Given the description of an element on the screen output the (x, y) to click on. 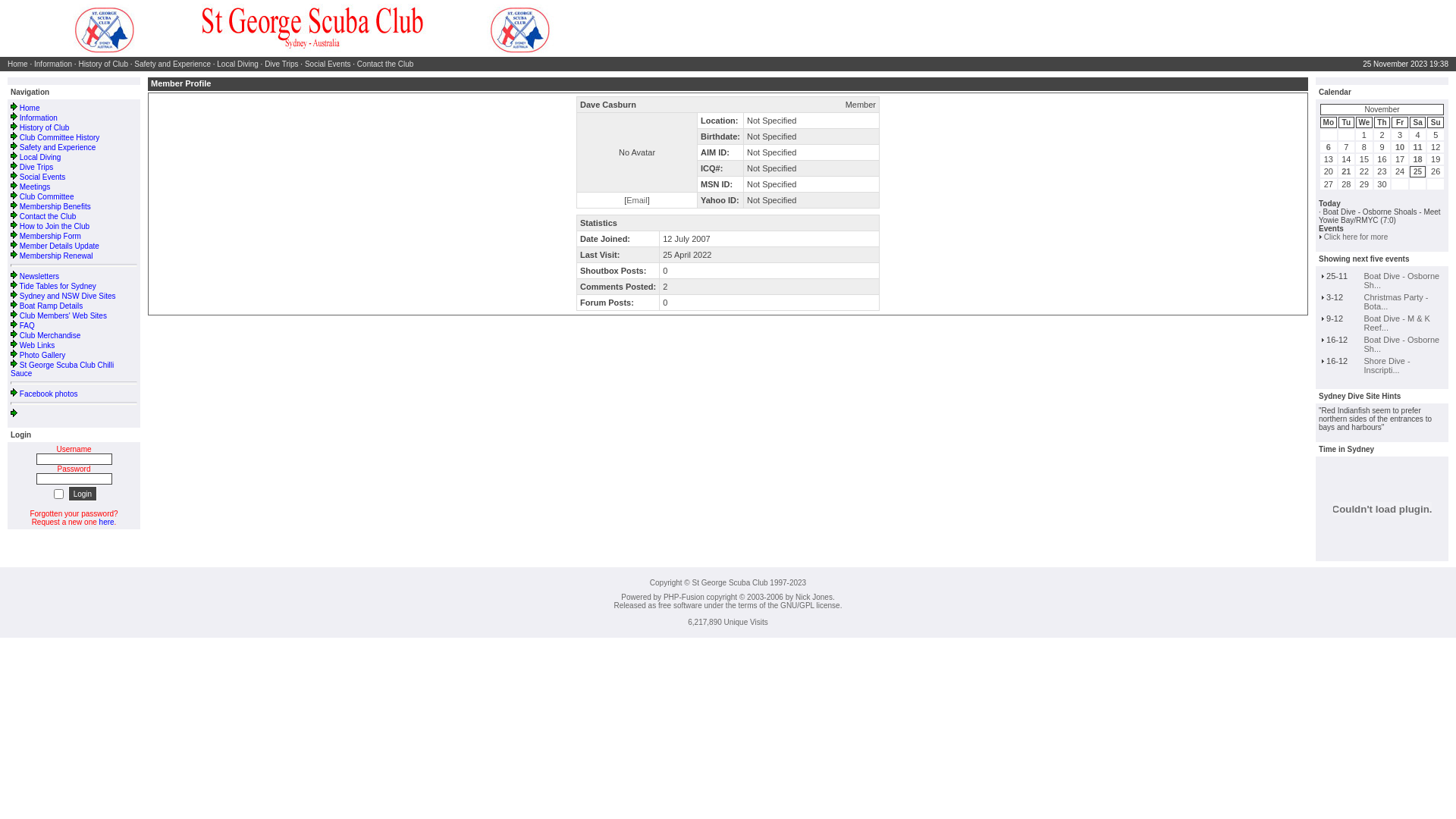
Club Committee Element type: text (46, 196)
Information Element type: text (38, 117)
Web Links Element type: text (37, 345)
Boat Ramp Details Element type: text (50, 305)
Club Merchandise Element type: text (50, 335)
18 Element type: text (1416, 158)
Remember Me Element type: hover (58, 493)
Home Element type: text (29, 107)
Information Element type: text (53, 63)
Email Element type: text (636, 199)
Dive Trips Element type: text (281, 63)
Photo Gallery Element type: text (42, 355)
Shore Dive - Inscripti... Element type: text (1387, 365)
Home Element type: text (17, 63)
Contact the Club Element type: text (385, 63)
Tide Tables for Sydney Element type: text (57, 286)
Dive Trips Element type: text (36, 167)
Social Events Element type: text (42, 176)
St George Scuba Club Element type: hover (310, 28)
FAQ Element type: text (26, 325)
Login Element type: text (82, 493)
History of Club Element type: text (44, 127)
25 Element type: text (1417, 171)
Christmas Party - Bota... Element type: text (1396, 301)
Membership Benefits Element type: text (55, 206)
History of Club Element type: text (103, 63)
Boat Dive - Osborne Sh... Element type: text (1402, 344)
10 Element type: text (1399, 146)
Membership Form Element type: text (50, 236)
Social Events Element type: text (327, 63)
Safety and Experience Element type: text (172, 63)
Club Members' Web Sites Element type: text (62, 315)
Boat Dive - M & K Reef... Element type: text (1397, 322)
Local Diving Element type: text (39, 157)
St George Scuba Club Chilli Sauce Element type: text (61, 368)
Local Diving Element type: text (236, 63)
Club Committee History Element type: text (59, 137)
Facebook photos Element type: text (48, 393)
Sydney and NSW Dive Sites Element type: text (67, 295)
Newsletters Element type: text (39, 276)
How to Join the Club Element type: text (54, 226)
Membership Renewal Element type: text (56, 255)
11 Element type: text (1416, 146)
Meetings Element type: text (34, 186)
Safety and Experience Element type: text (57, 147)
6 Element type: text (1328, 146)
Member Details Update Element type: text (59, 245)
here Element type: text (106, 521)
21 Element type: text (1345, 170)
Contact the Club Element type: text (47, 216)
Boat Dive - Osborne Sh... Element type: text (1402, 280)
PHP-Fusion Element type: text (683, 597)
Click here for more Element type: text (1355, 236)
